Given the description of an element on the screen output the (x, y) to click on. 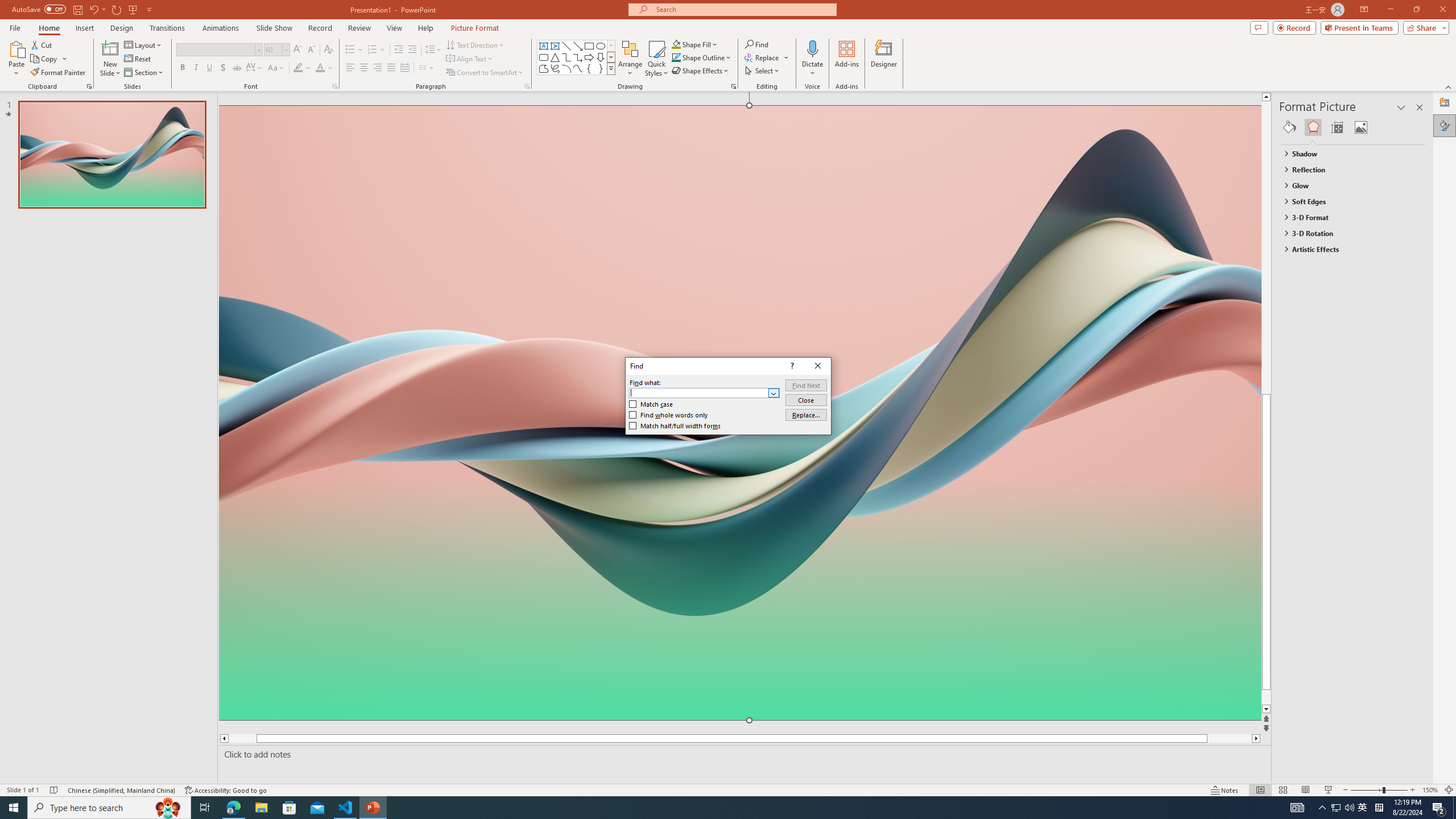
Find Next (805, 384)
